Given the description of an element on the screen output the (x, y) to click on. 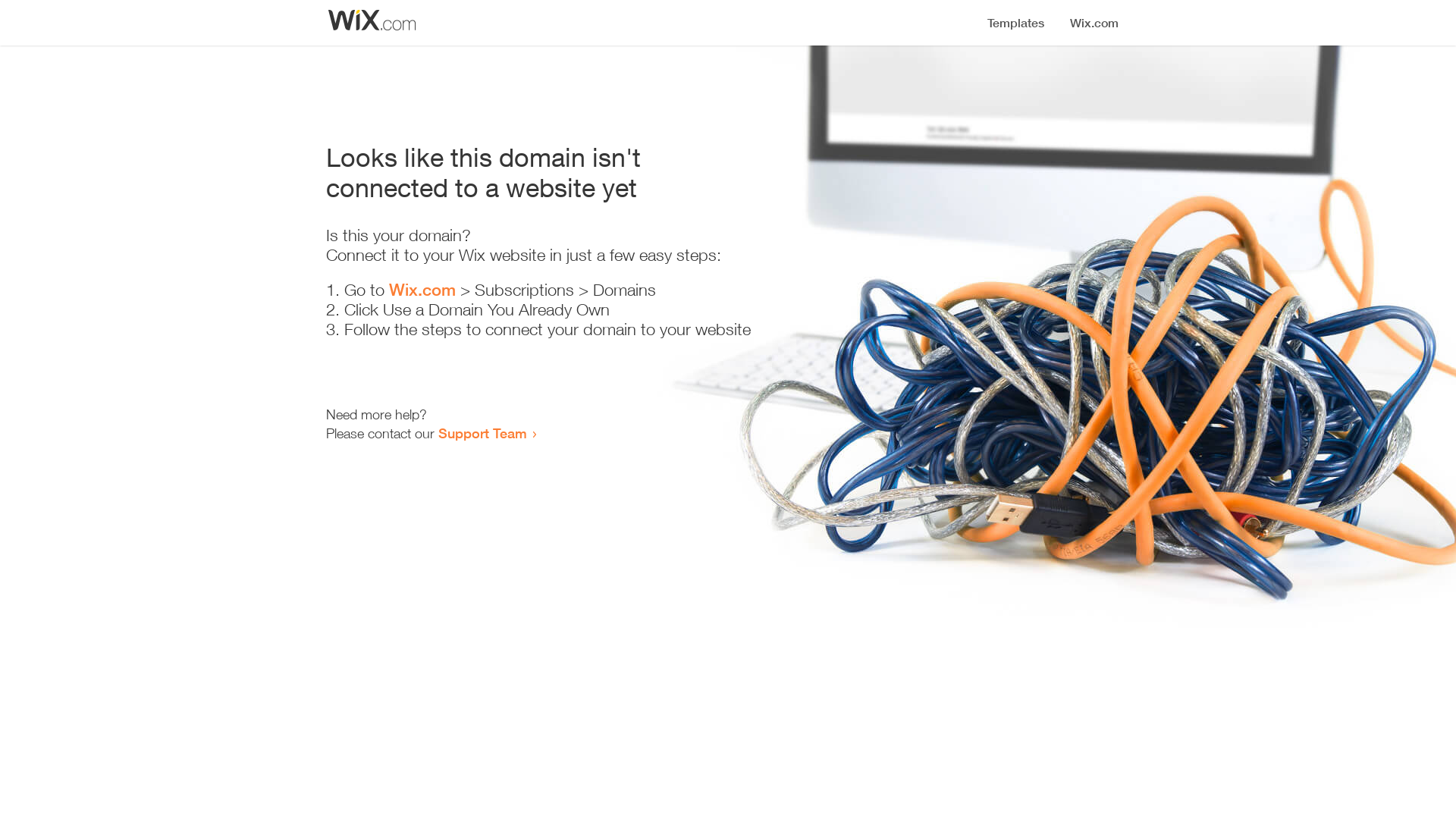
Support Team Element type: text (482, 432)
Wix.com Element type: text (422, 289)
